Given the description of an element on the screen output the (x, y) to click on. 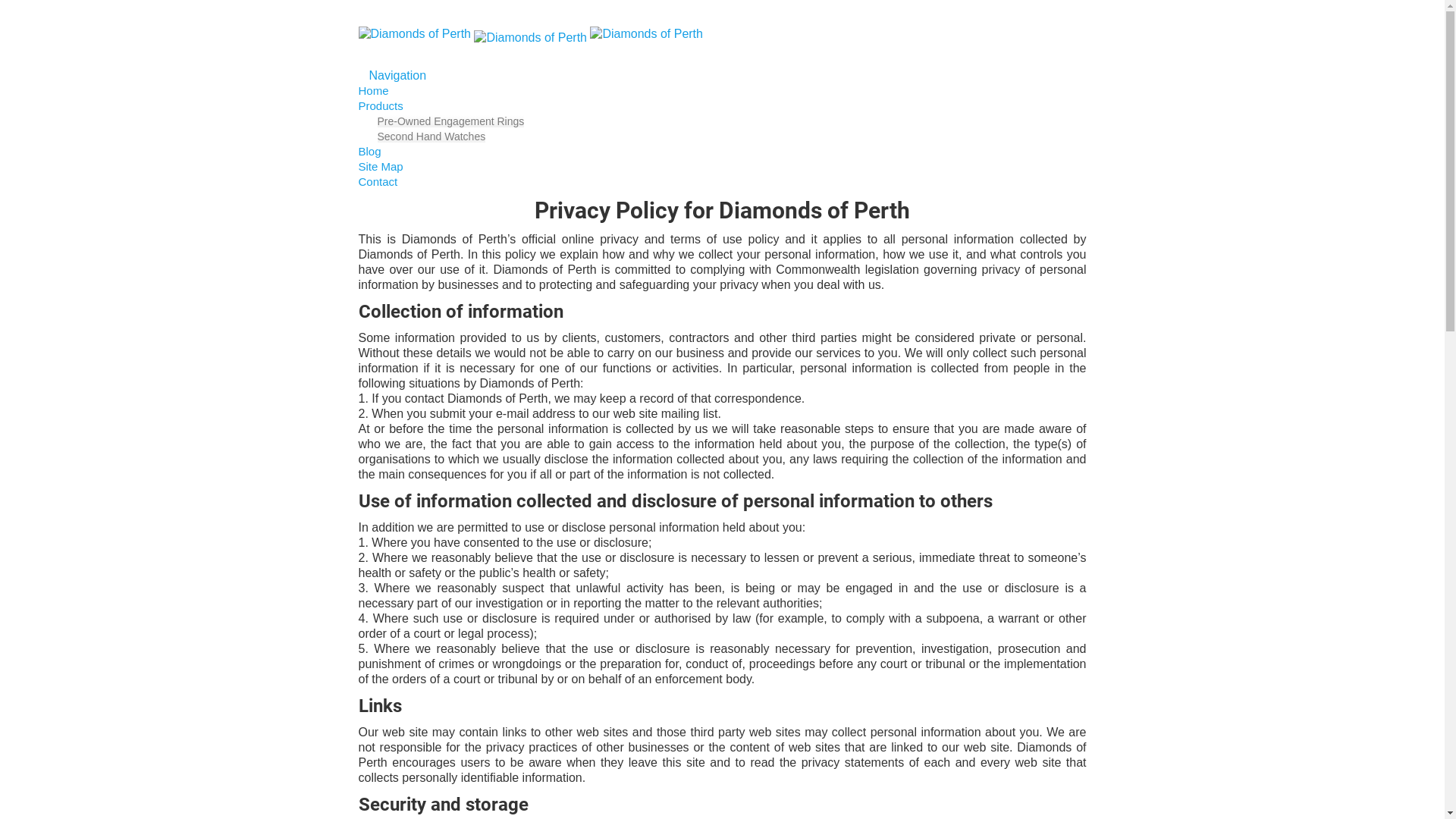
Second Hand Watches Element type: text (431, 136)
Pre-Owned Engagement Rings Element type: text (450, 121)
Contact Element type: text (377, 181)
Site Map Element type: text (379, 166)
Home Element type: text (372, 90)
Navigation Element type: text (391, 75)
Blog Element type: text (368, 150)
Products Element type: text (385, 105)
